Given the description of an element on the screen output the (x, y) to click on. 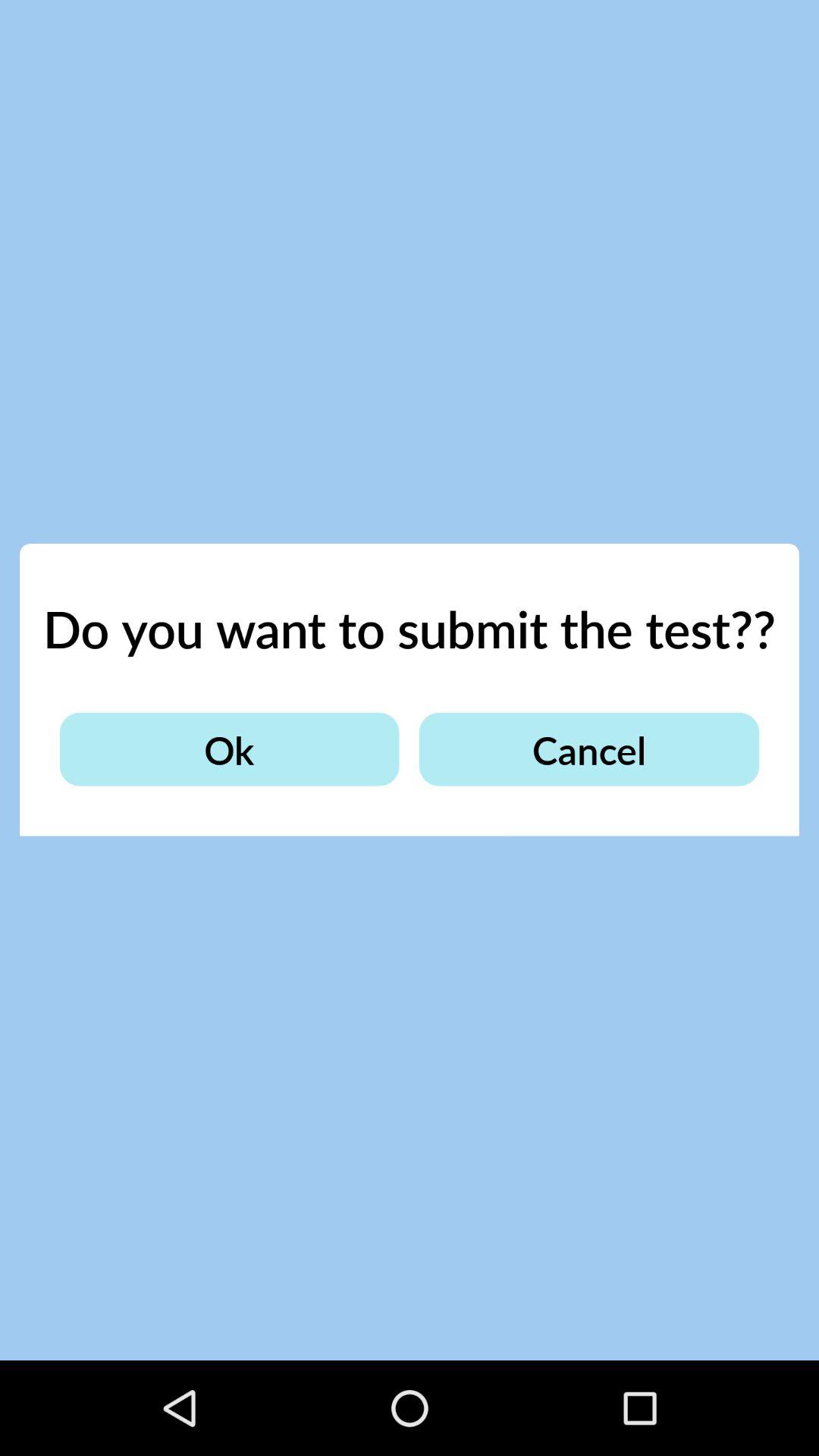
choose the item below the do you want item (589, 749)
